Given the description of an element on the screen output the (x, y) to click on. 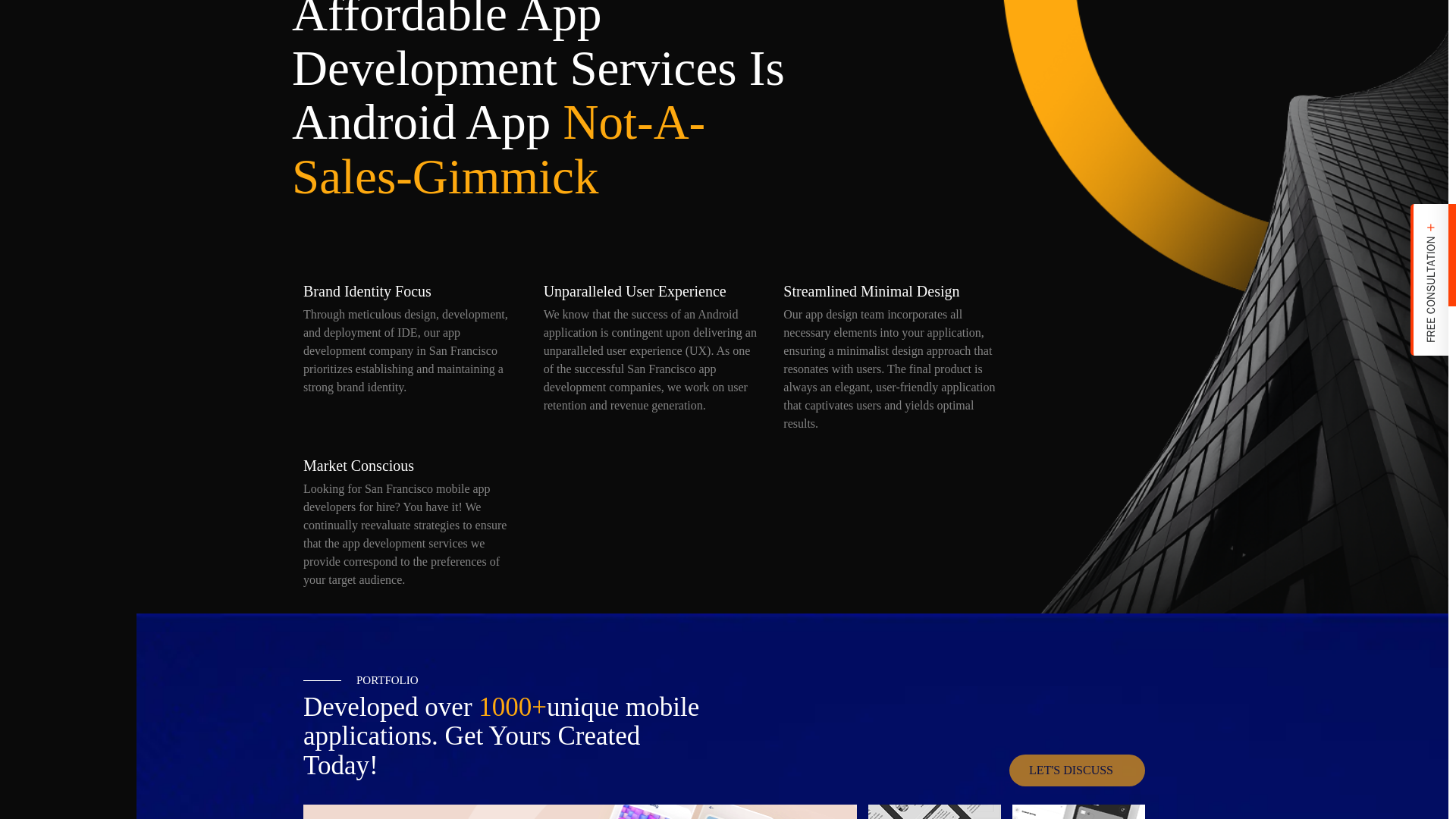
Image of service portfolio for digital product development (579, 811)
